Given the description of an element on the screen output the (x, y) to click on. 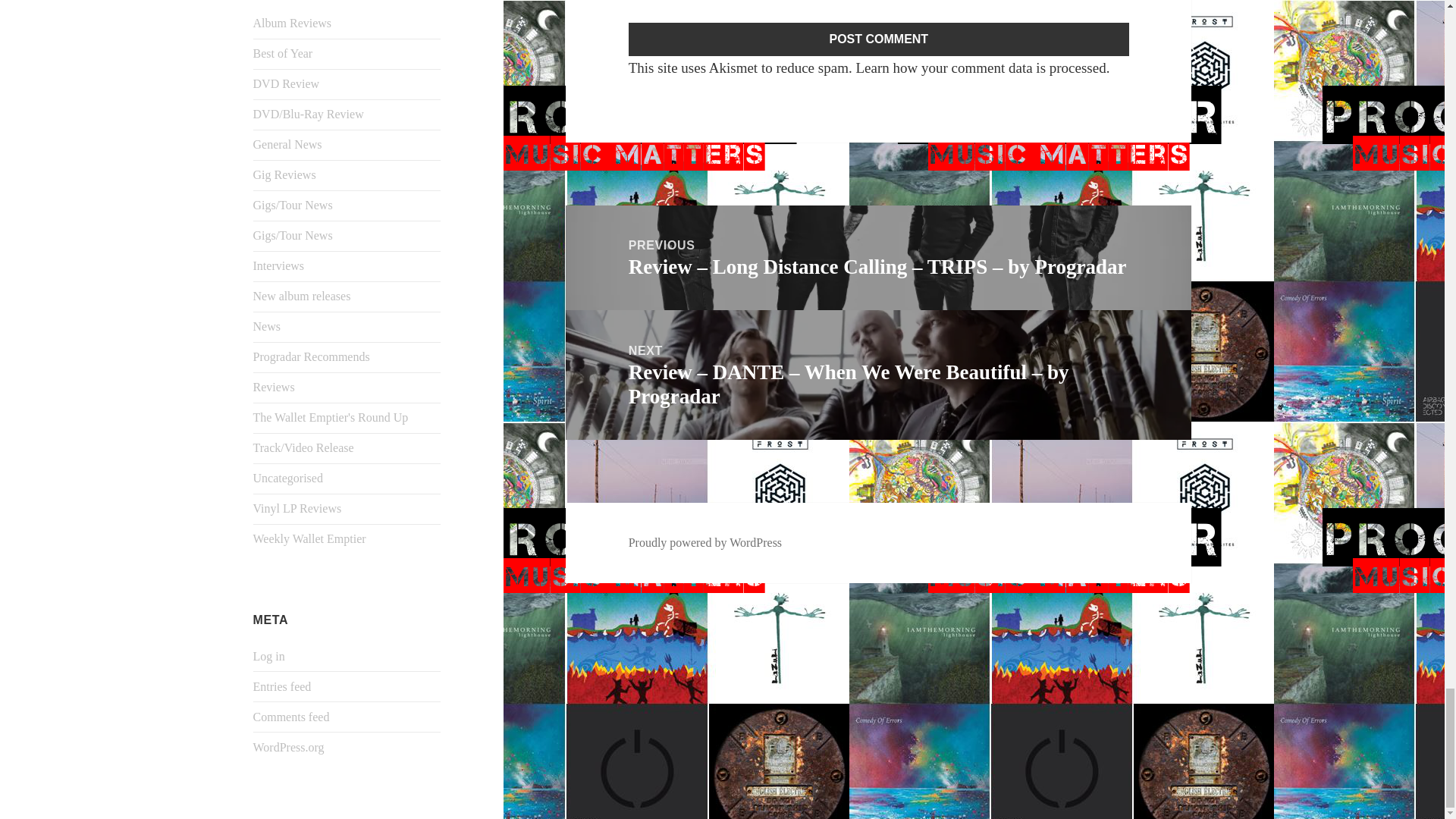
Post Comment (878, 39)
